Given the description of an element on the screen output the (x, y) to click on. 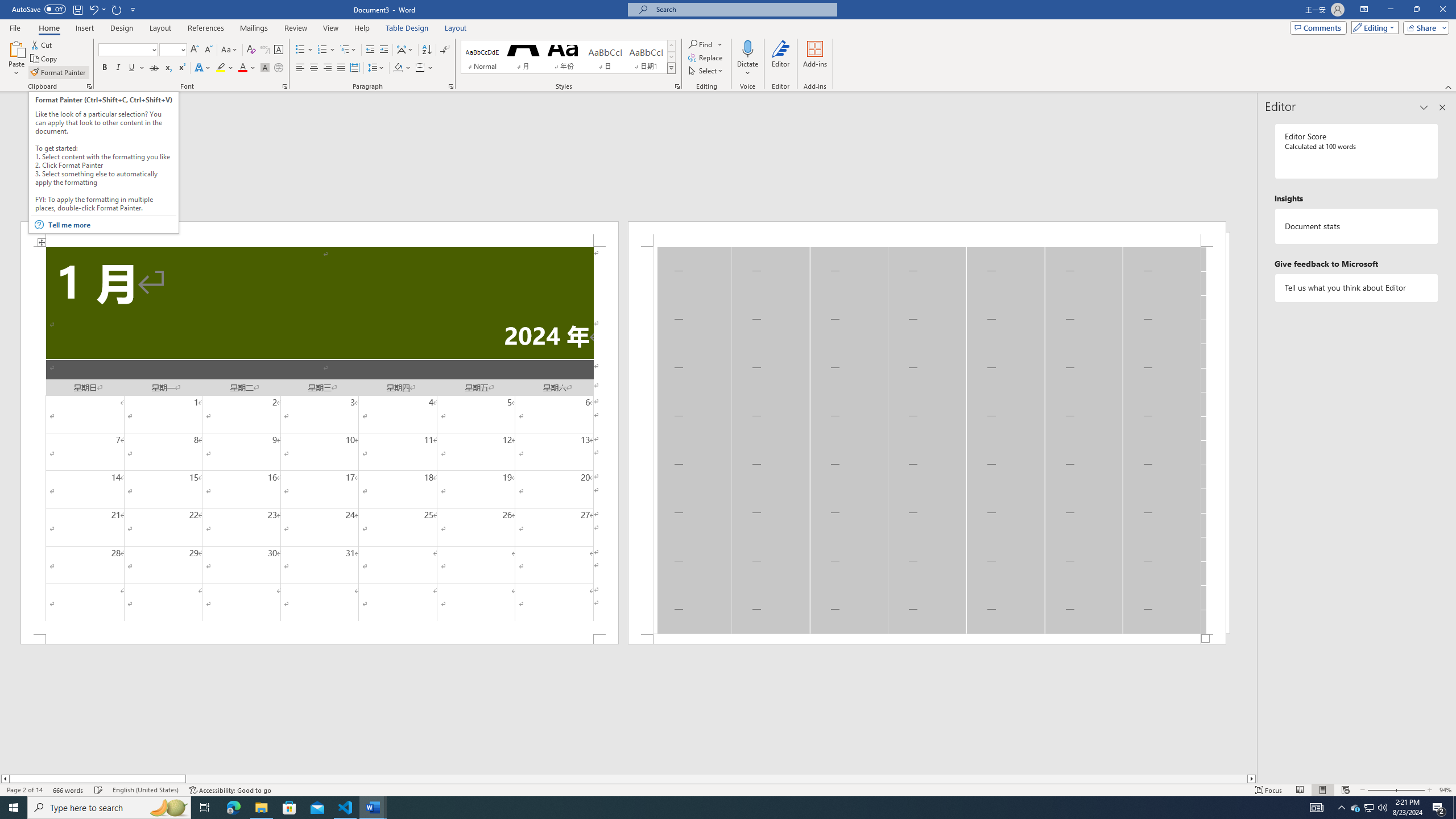
Format Painter (58, 72)
Header -Section 1- (926, 233)
Shading RGB(0, 0, 0) (397, 67)
Cut (42, 44)
Bold (104, 67)
Office Clipboard... (88, 85)
Font Color (246, 67)
Accessibility Checker Accessibility: Good to go (230, 790)
Show/Hide Editing Marks (444, 49)
